Given the description of an element on the screen output the (x, y) to click on. 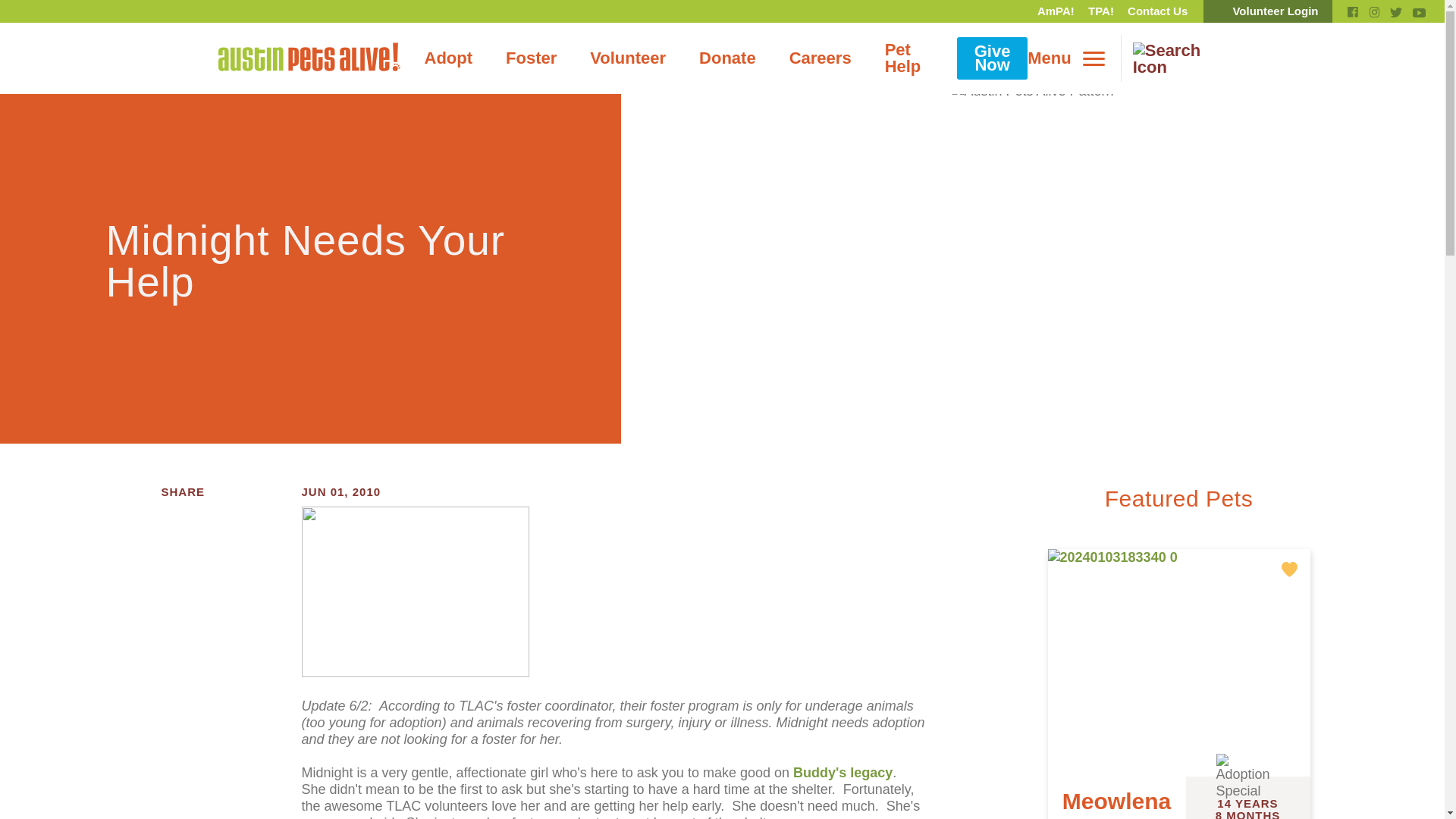
Volunteer (627, 58)
Adopt (448, 58)
Careers (820, 58)
Foster (531, 58)
Contact Us (1157, 11)
AmPA! (1056, 11)
Donate (727, 58)
Volunteer Login (1268, 11)
TPA! (1101, 11)
